Given the description of an element on the screen output the (x, y) to click on. 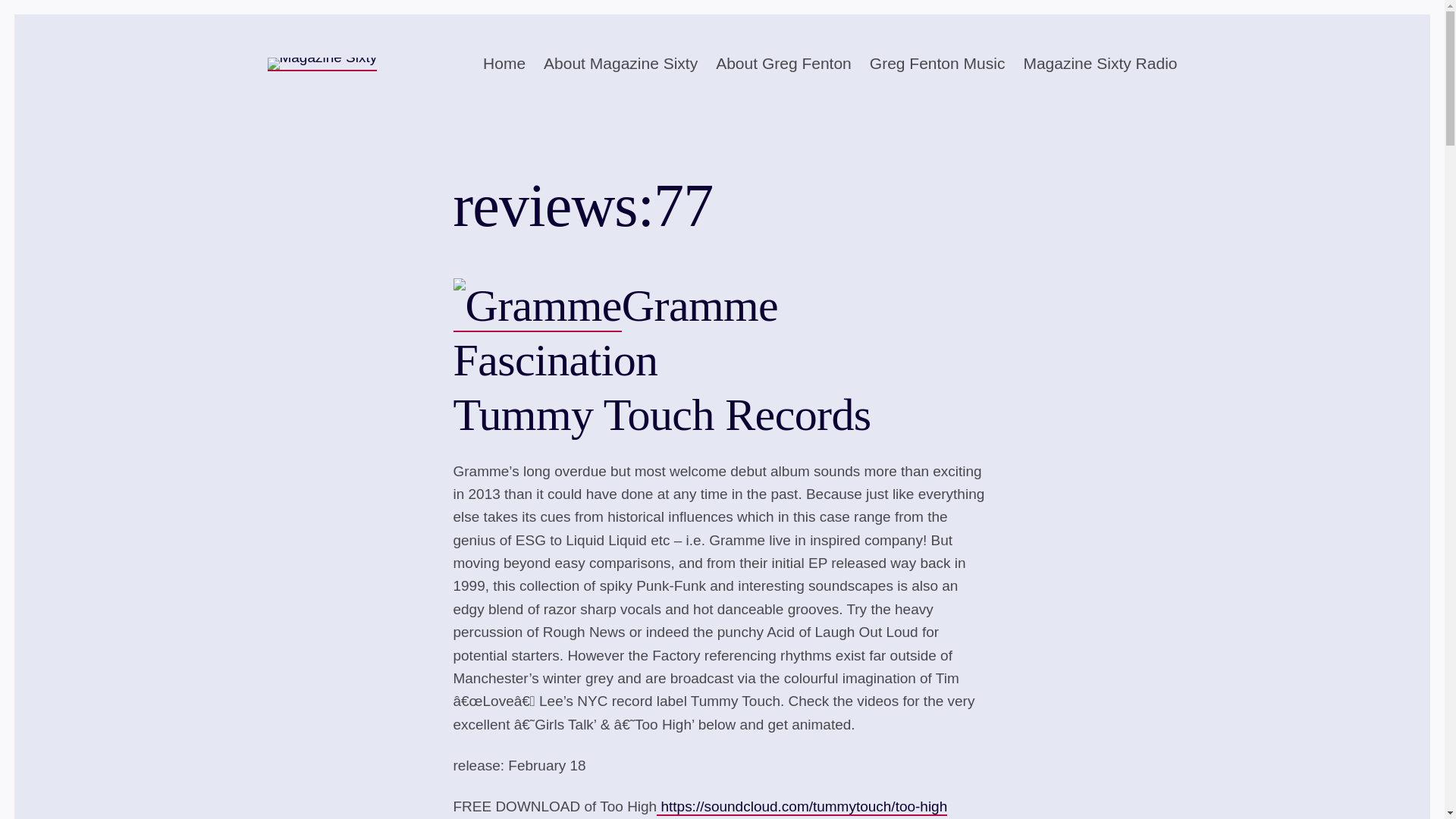
About Magazine Sixty (620, 63)
Home (504, 63)
Magazine Sixty Radio (1099, 63)
Greg Fenton Music (937, 63)
About Greg Fenton (783, 63)
